Given the description of an element on the screen output the (x, y) to click on. 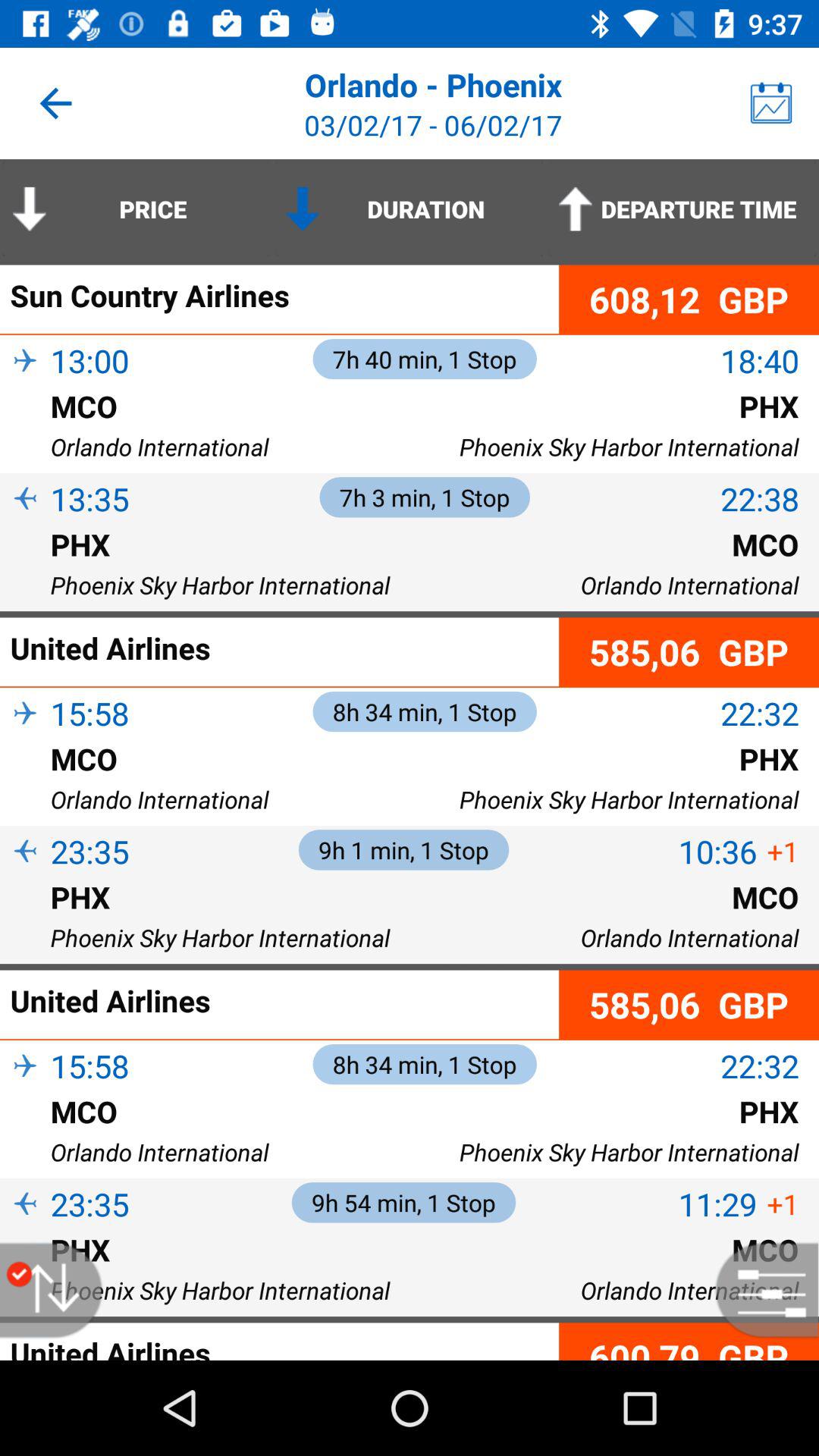
turn off the item above mco icon (717, 851)
